Given the description of an element on the screen output the (x, y) to click on. 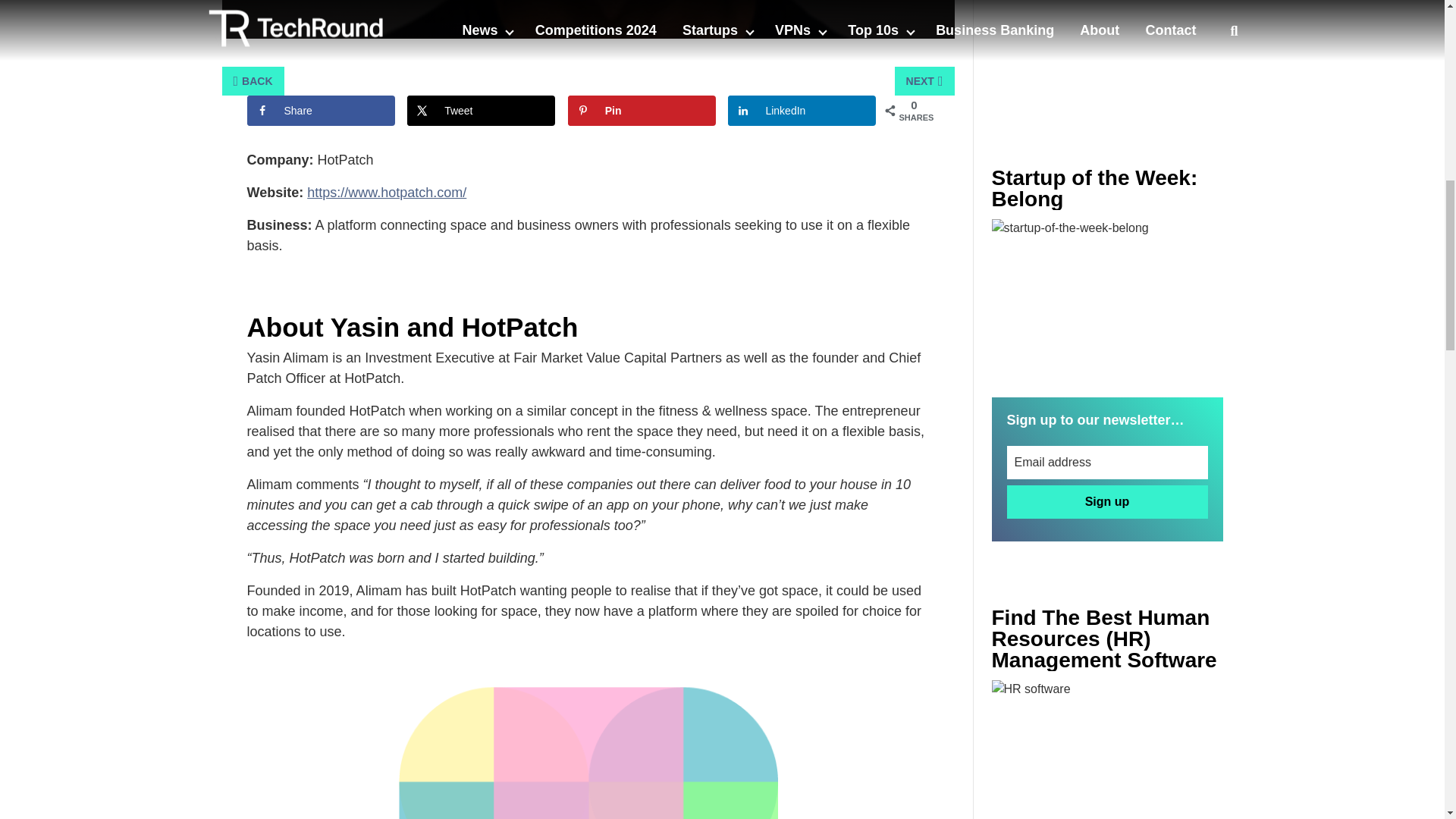
Share on LinkedIn (802, 110)
Startup of the Week: Neon Link (1107, 296)
Sign up (1107, 501)
Enter The BAME Top 50 Entrepreneurs - Deadline 10th Nov 2021 (1107, 749)
Share on Facebook (320, 110)
Save to Pinterest (641, 110)
Share on X (480, 110)
